Given the description of an element on the screen output the (x, y) to click on. 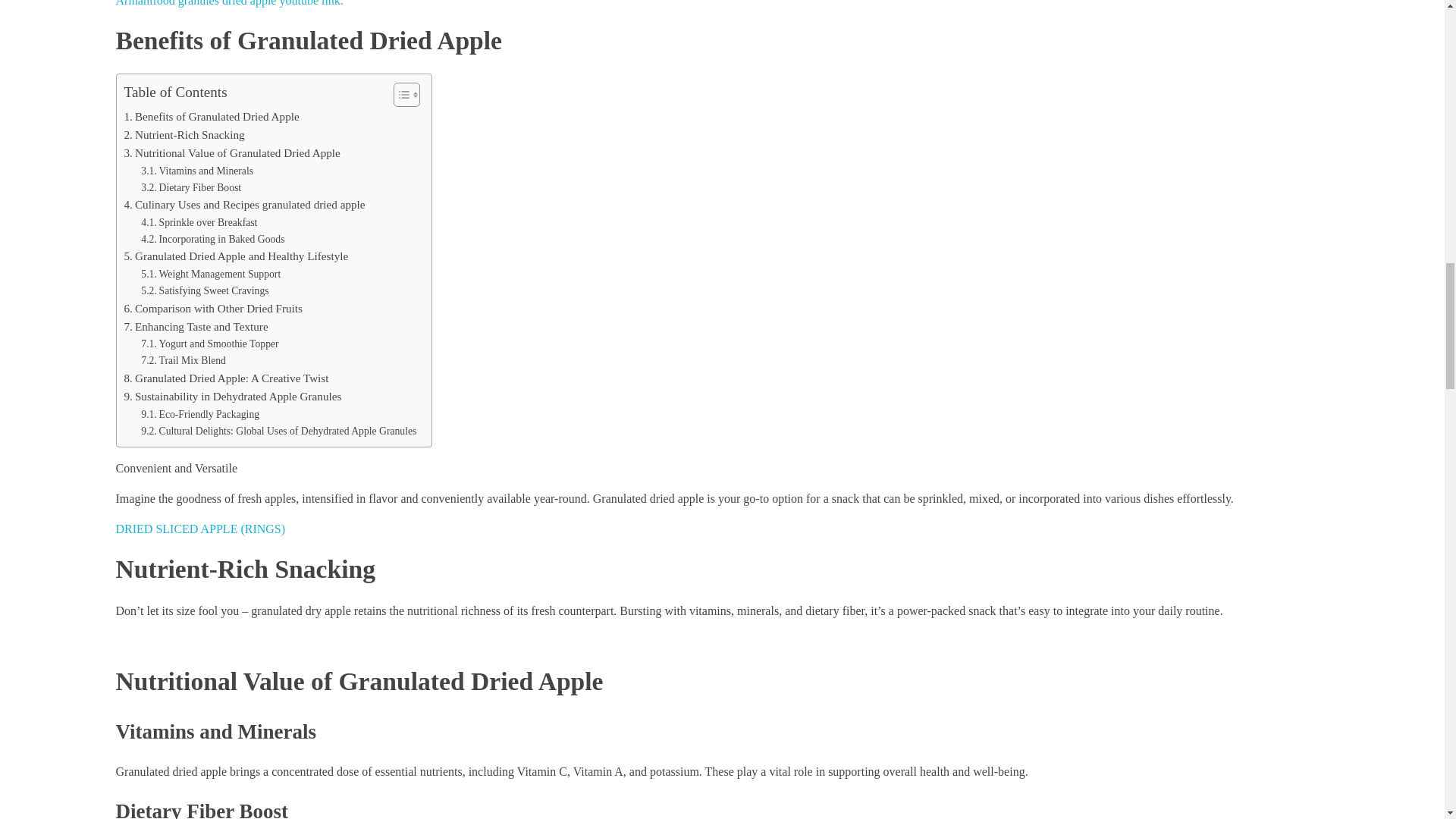
Benefits of Granulated Dried Apple (211, 116)
Nutrient-Rich Snacking (183, 135)
Granulated Dried Apple and Healthy Lifestyle (236, 256)
Sprinkle over Breakfast (199, 222)
Nutritional Value of Granulated Dried Apple (231, 153)
Dietary Fiber Boost (191, 187)
Vitamins and Minerals (197, 170)
Culinary Uses and Recipes granulated dried apple (244, 204)
Incorporating in Baked Goods (212, 239)
Weight Management Support (211, 274)
